Given the description of an element on the screen output the (x, y) to click on. 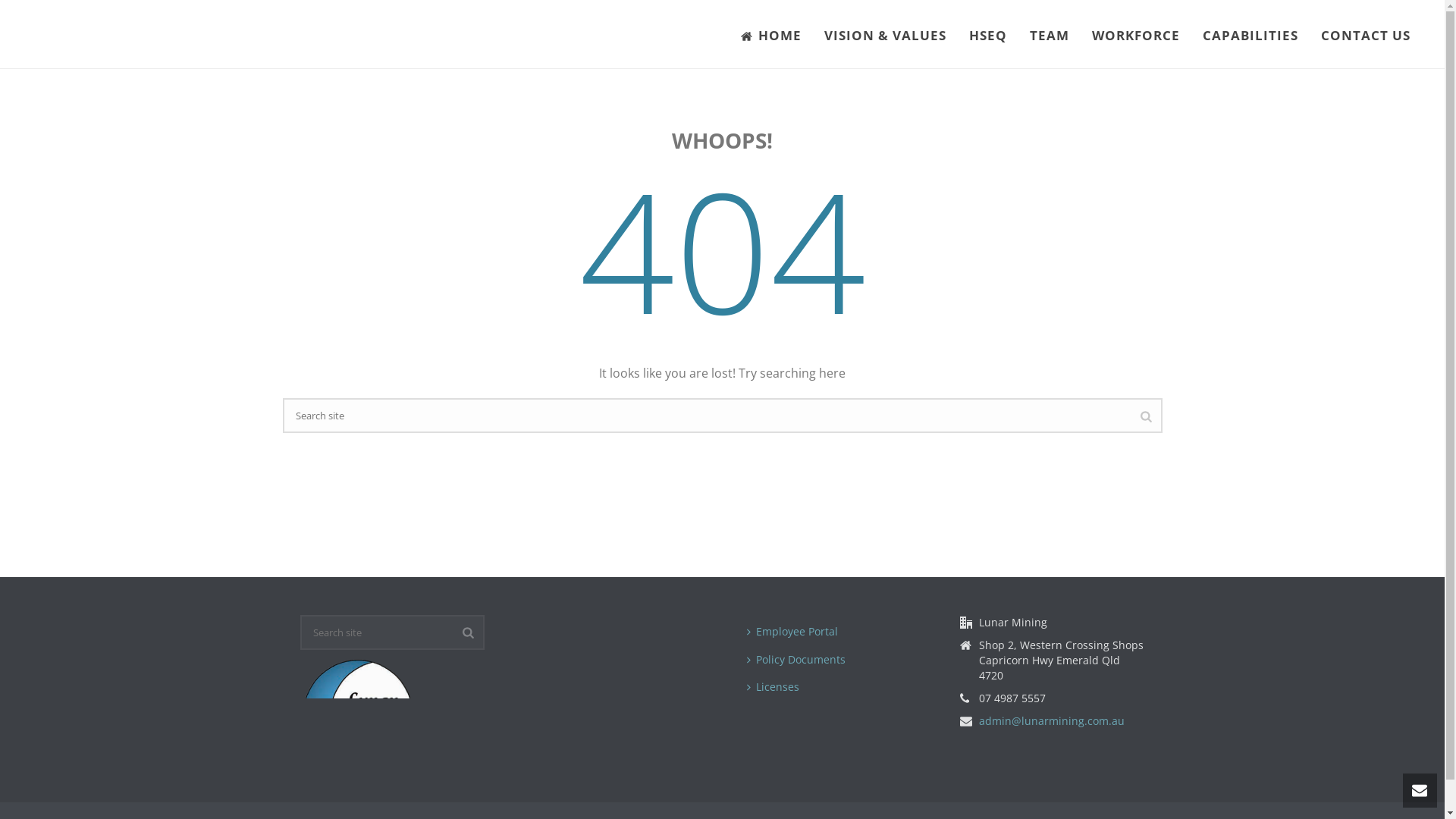
TEAM Element type: text (1049, 35)
VISION & VALUES Element type: text (884, 35)
WORKFORCE Element type: text (1135, 35)
HOME Element type: text (770, 35)
CAPABILITIES Element type: text (1250, 35)
CONTACT US Element type: text (1365, 35)
admin@lunarmining.com.au Element type: text (1051, 721)
Policy Documents Element type: text (799, 660)
Employee Portal Element type: text (796, 632)
HSEQ Element type: text (987, 35)
Licenses Element type: text (776, 687)
